Given the description of an element on the screen output the (x, y) to click on. 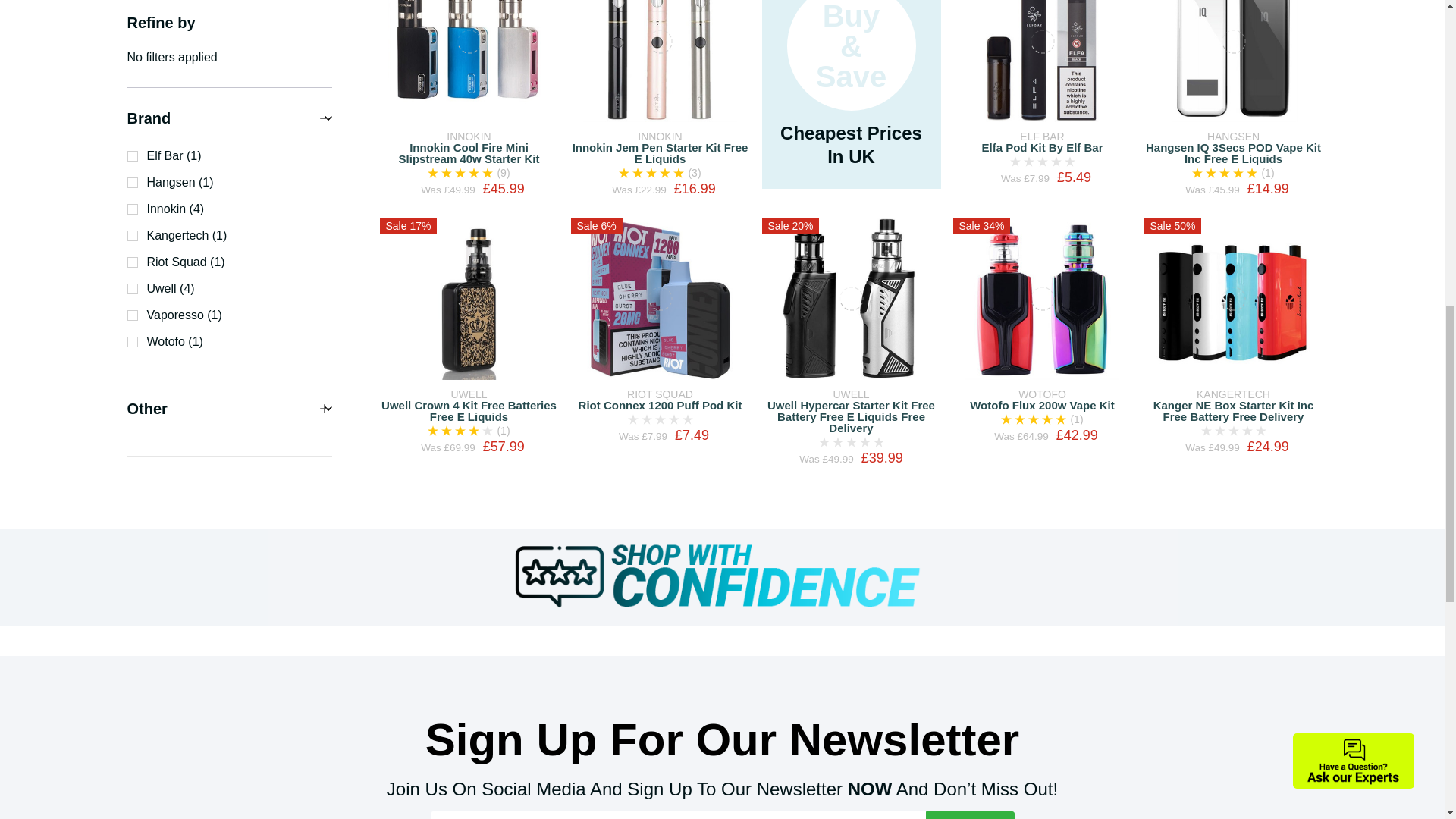
Submit (969, 815)
Innokin Jem Pen Starter Kit (659, 61)
Innokin Cool Fire Mini Slipstream Starter Kit 40w (468, 58)
Uwell - Crown 4 Kit (468, 298)
Elfa Pod Kit By Elf Bar (1041, 61)
